Given the description of an element on the screen output the (x, y) to click on. 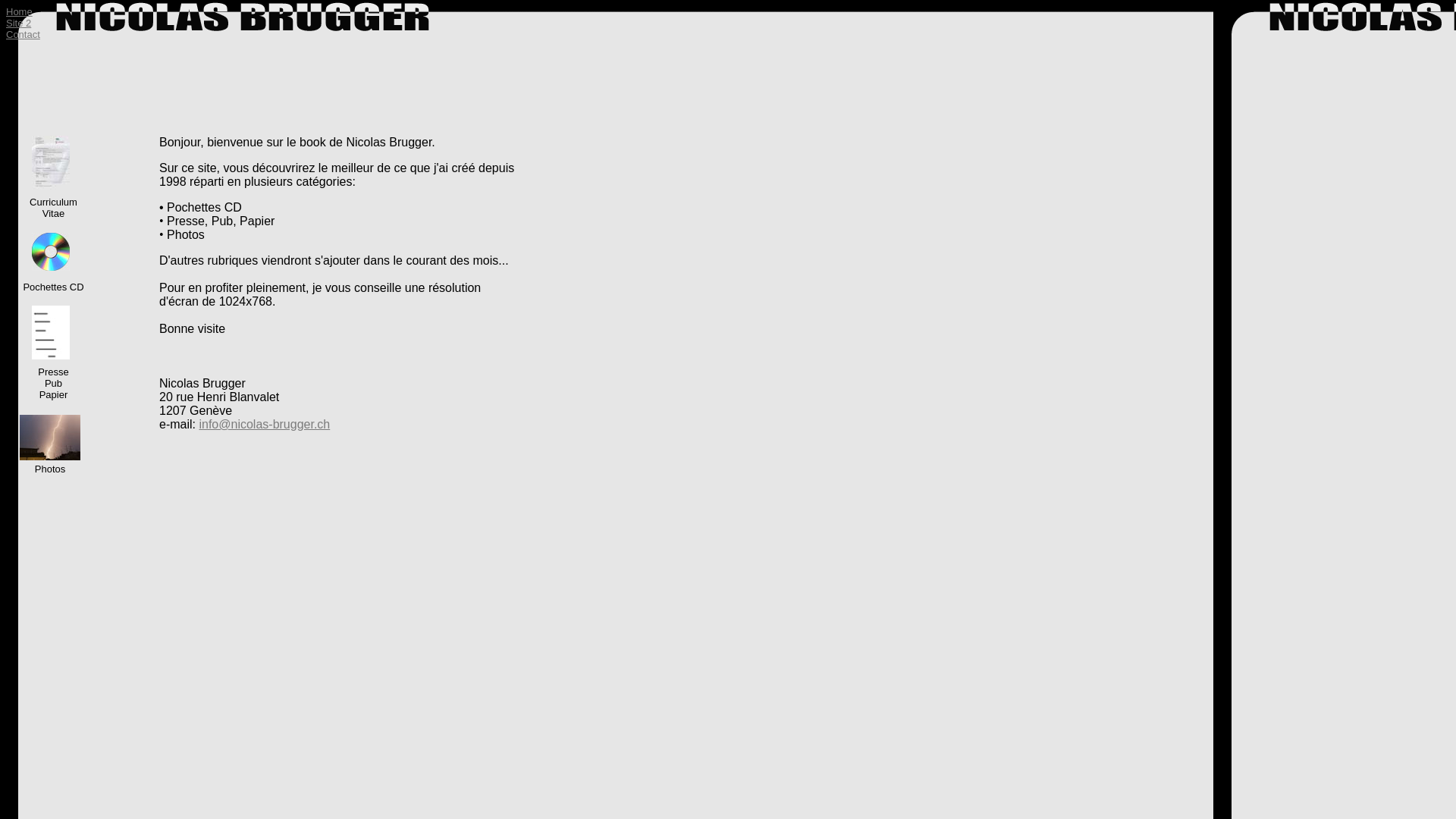
Home Element type: text (19, 11)
Contact Element type: text (23, 34)
Site 2 Element type: text (18, 22)
info@nicolas-brugger.ch Element type: text (263, 423)
